Given the description of an element on the screen output the (x, y) to click on. 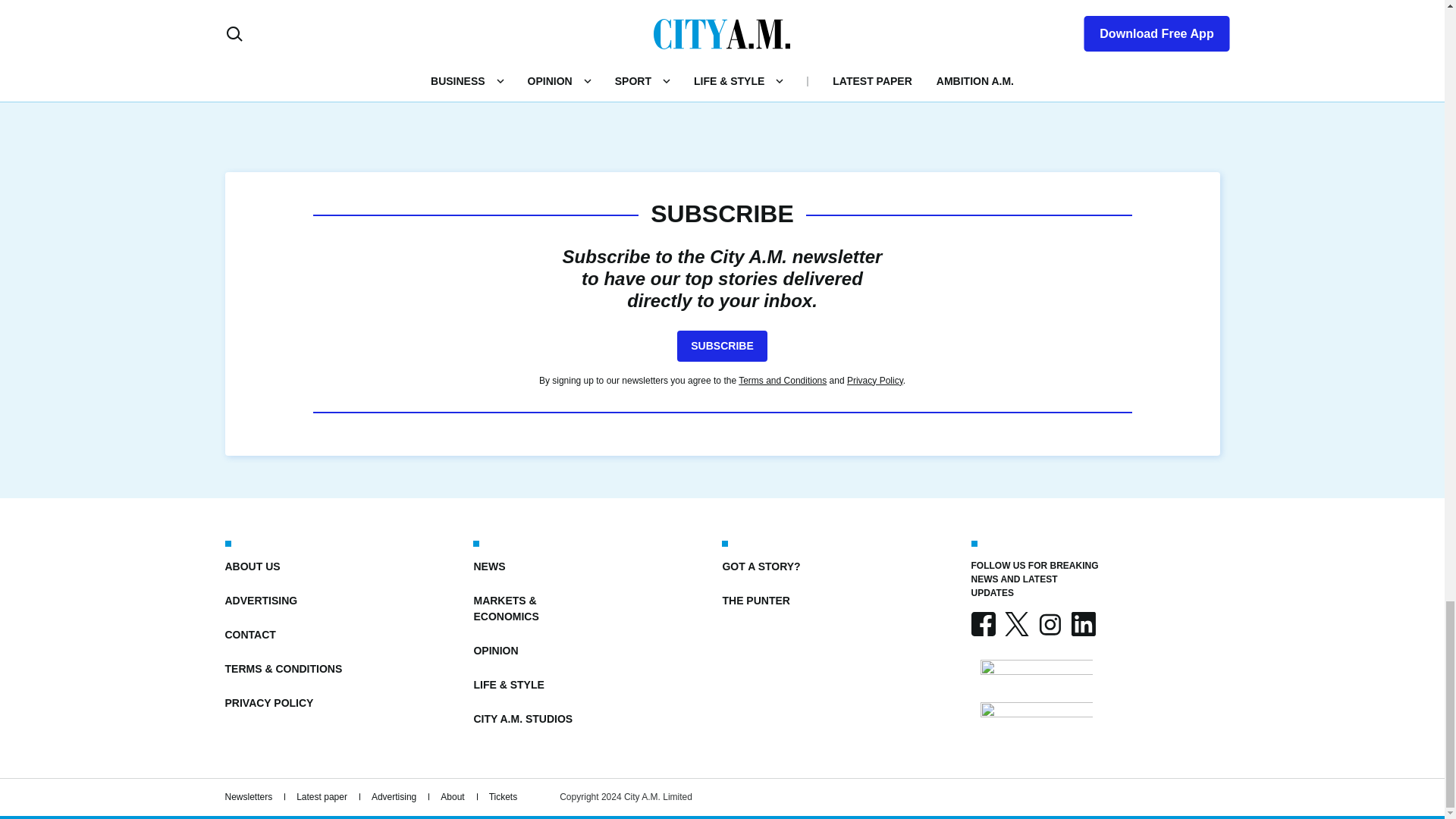
X (1015, 623)
FACEBOOK (982, 623)
INSTAGRAM (1048, 623)
LINKEDIN (1082, 623)
